Given the description of an element on the screen output the (x, y) to click on. 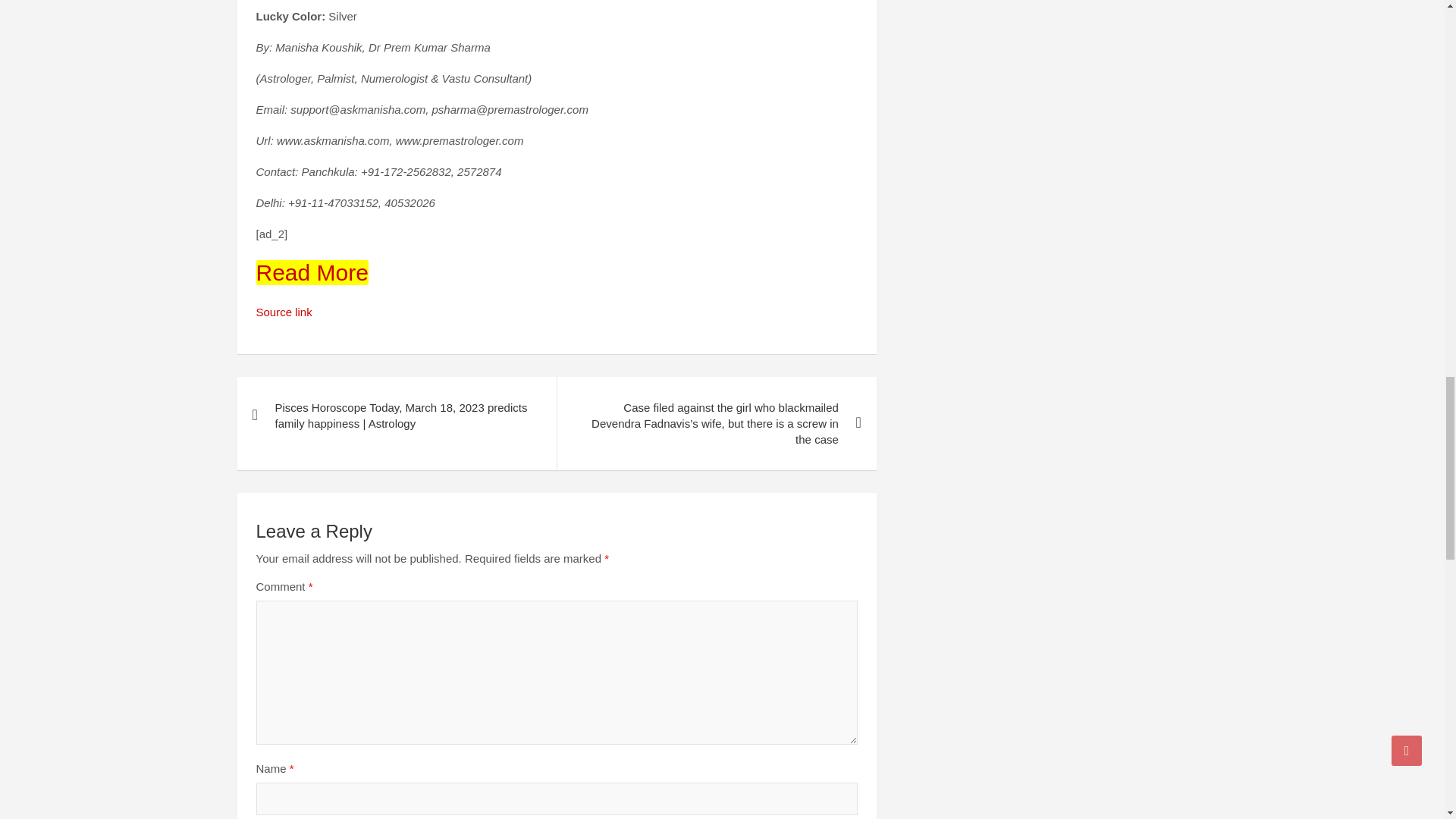
Read More (312, 272)
Source link (284, 311)
